Given the description of an element on the screen output the (x, y) to click on. 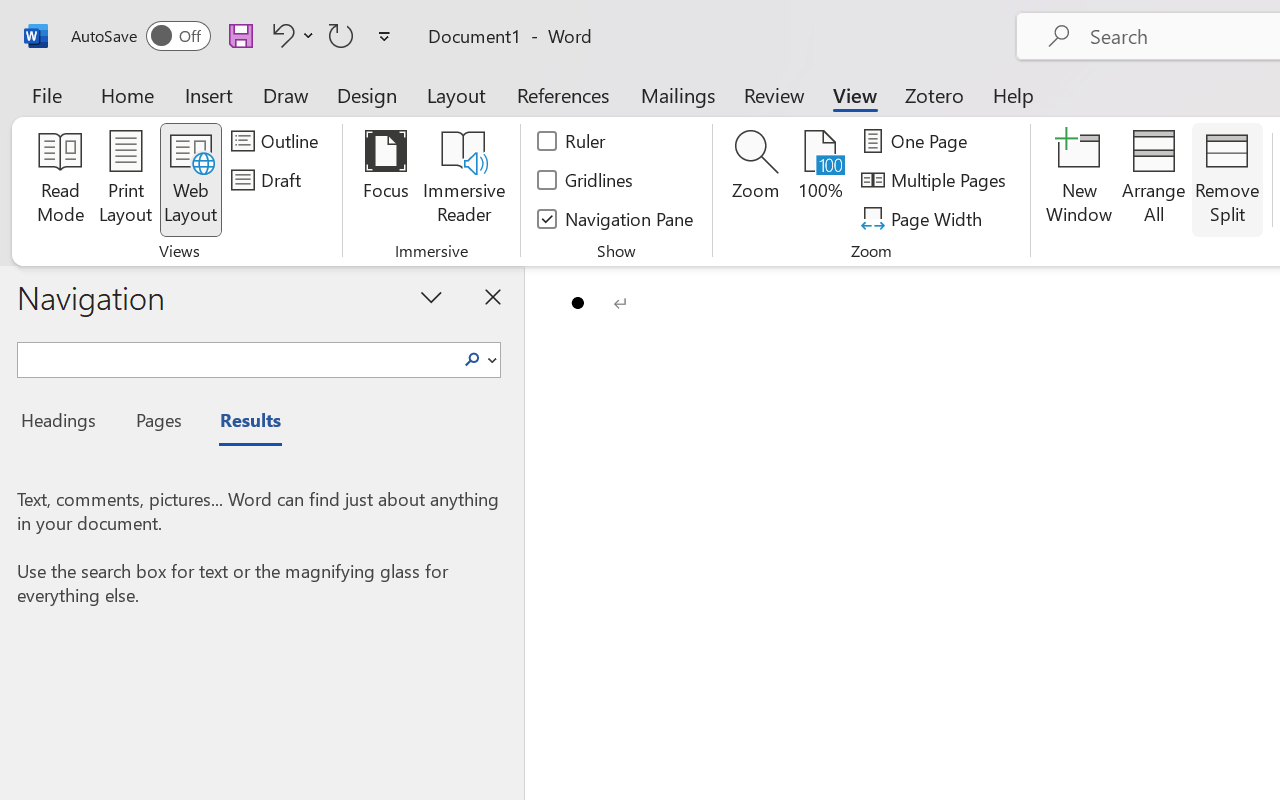
Pages (156, 423)
Navigation Pane (616, 218)
Remove Split (1227, 179)
Page Width (924, 218)
